Given the description of an element on the screen output the (x, y) to click on. 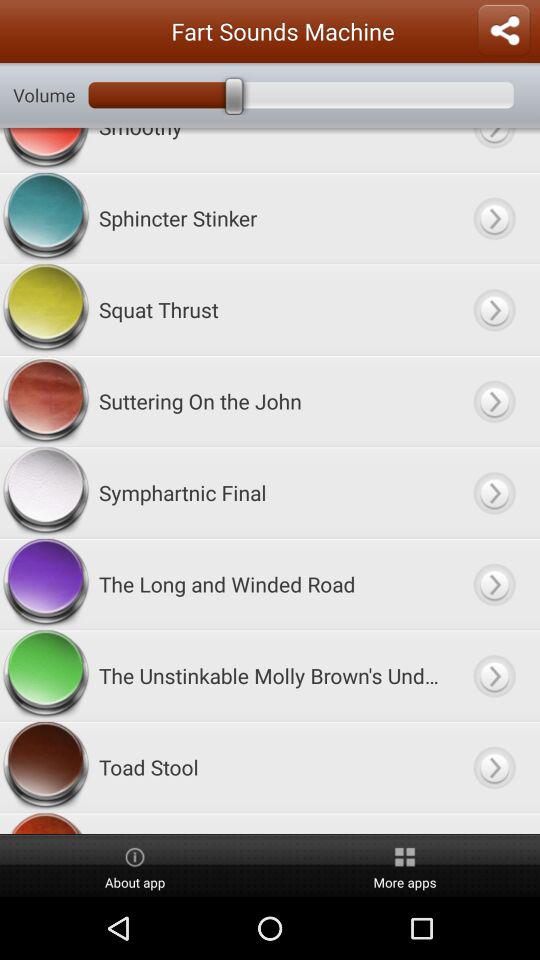
turn on the long and app (269, 584)
